Given the description of an element on the screen output the (x, y) to click on. 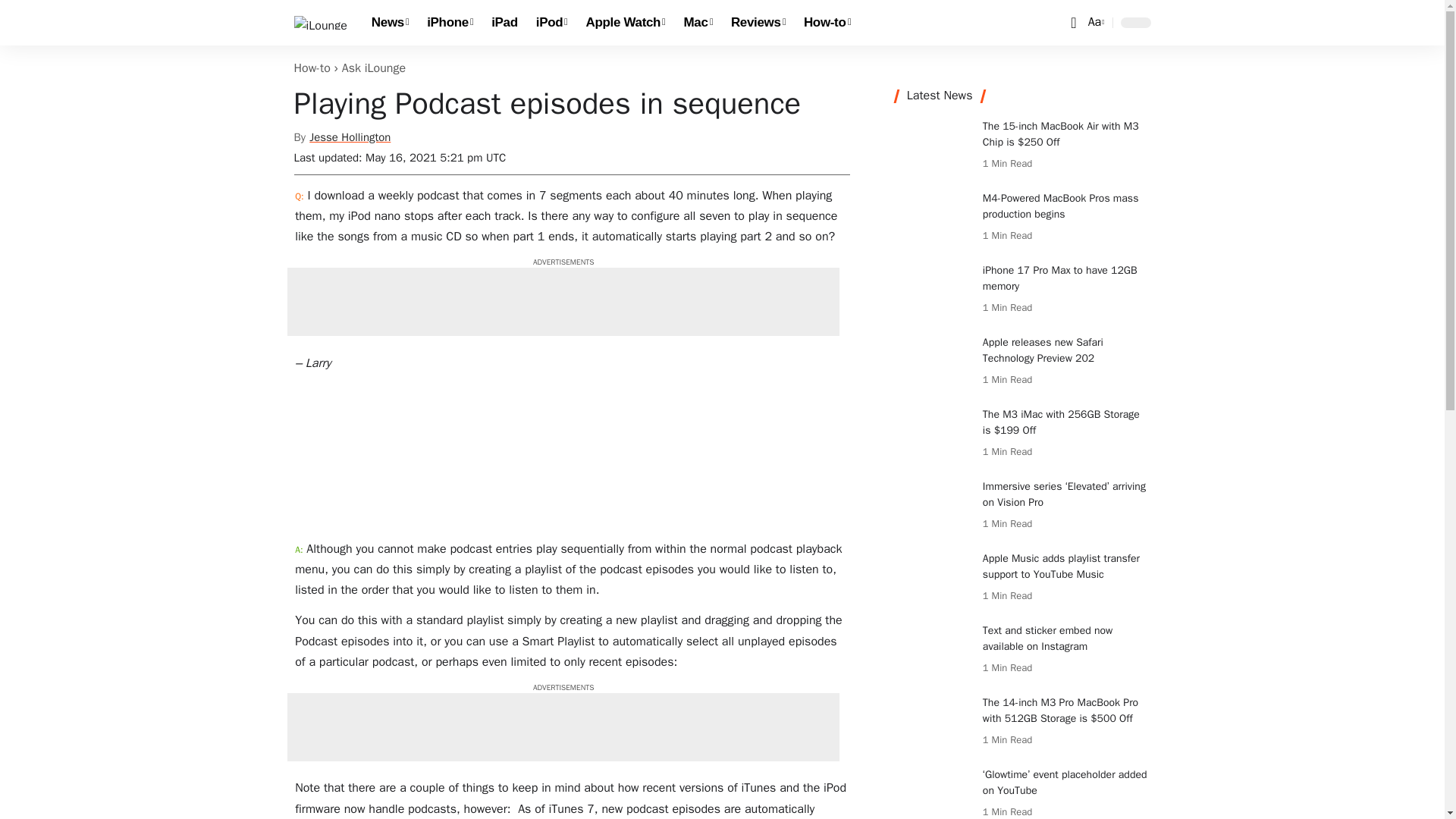
iLounge (320, 22)
Apple Music adds playlist transfer support to YouTube Music (933, 578)
Mac (698, 22)
iPhone 17 Pro Max to have 12GB memory (933, 290)
iPad (504, 22)
Apple Watch (625, 22)
M4-Powered MacBook Pros mass production begins (933, 218)
Reviews (758, 22)
iPhone (449, 22)
iPod (551, 22)
